Given the description of an element on the screen output the (x, y) to click on. 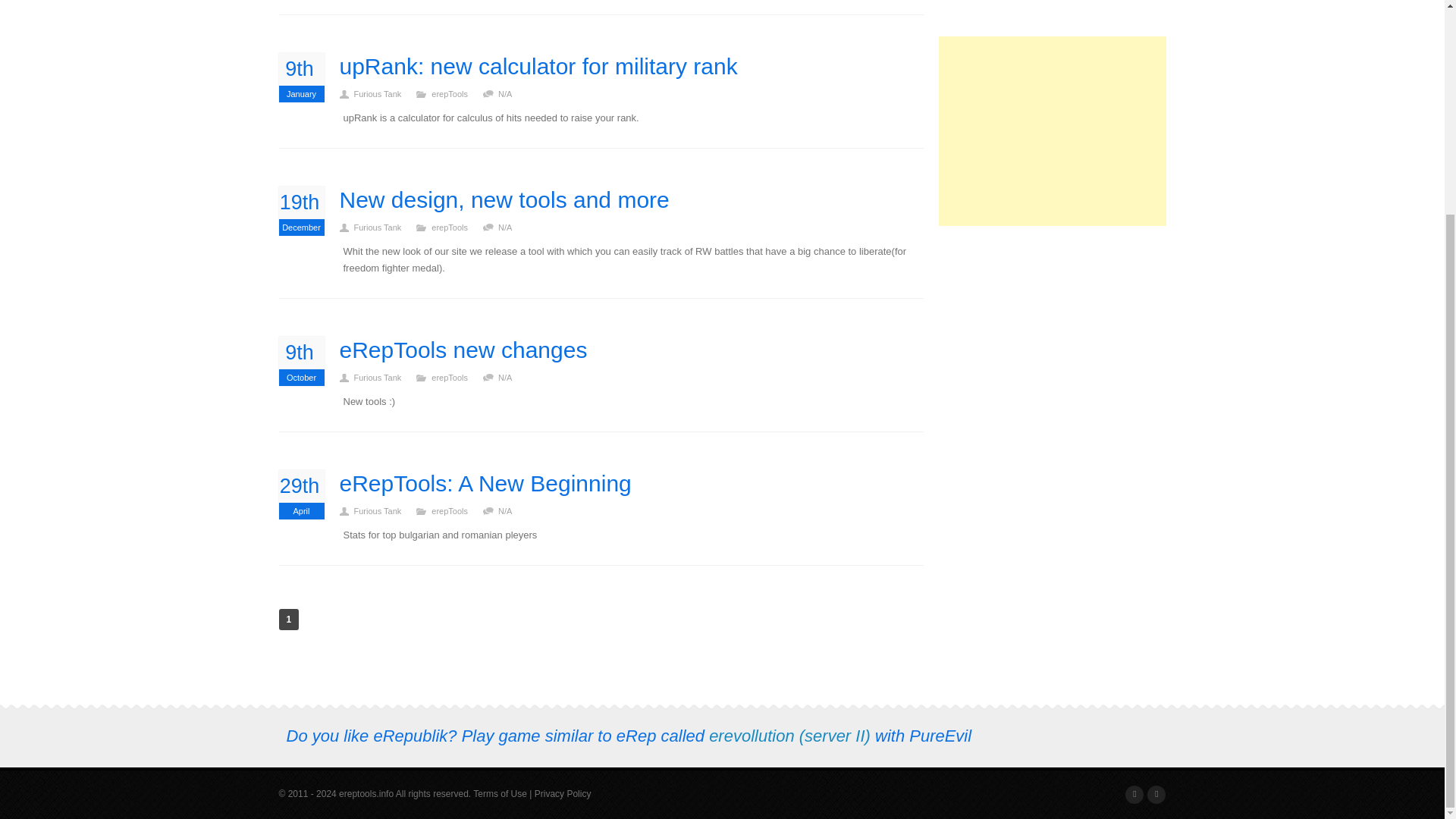
erepTools (455, 93)
upRank: new calculator for military rank (538, 66)
Furious Tank (383, 93)
Advertisement (301, 77)
New design, new tools and more (1052, 131)
